Given the description of an element on the screen output the (x, y) to click on. 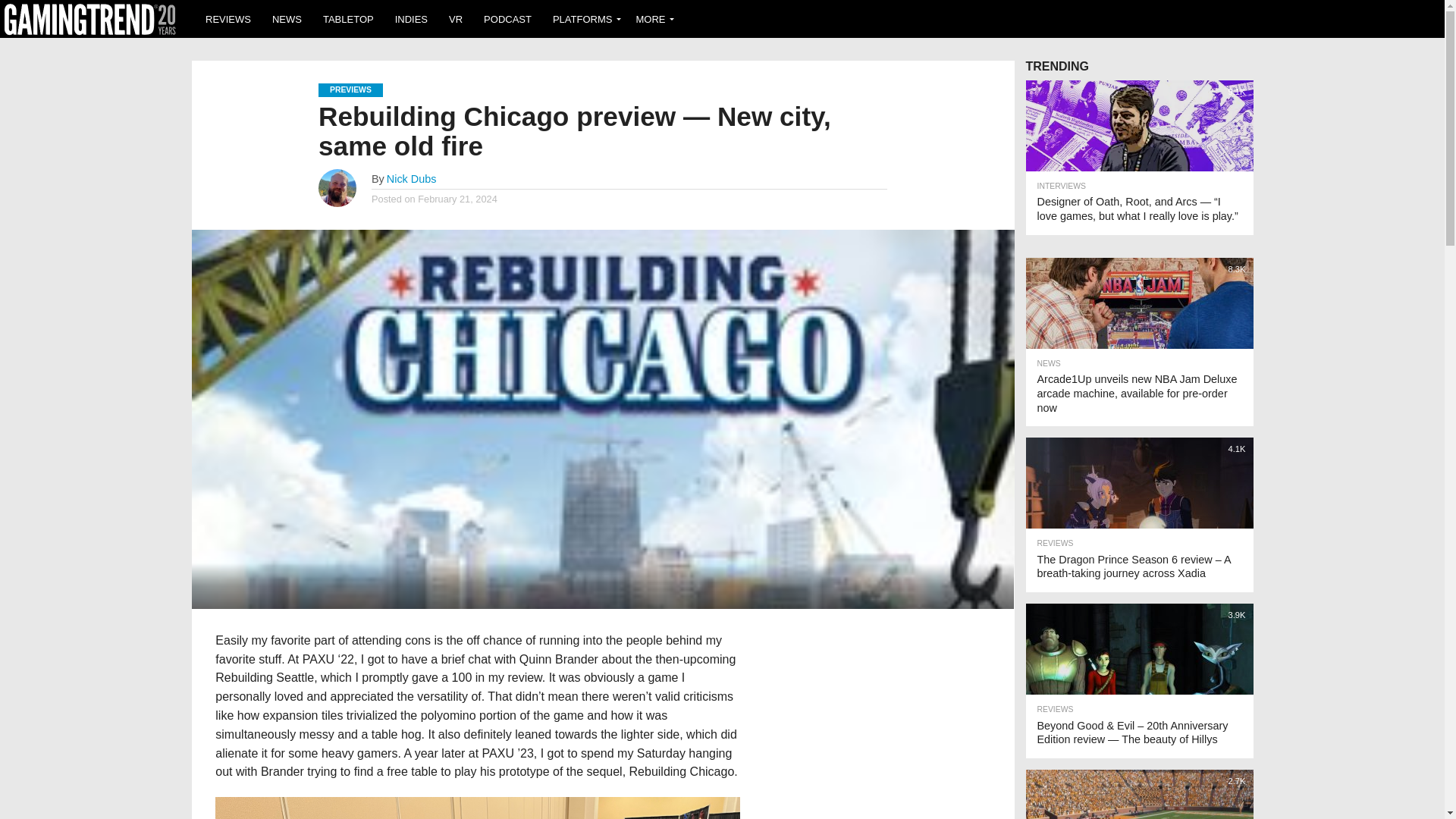
NEWS (287, 18)
TABLETOP (348, 18)
REVIEWS (228, 18)
INDIES (411, 18)
